Given the description of an element on the screen output the (x, y) to click on. 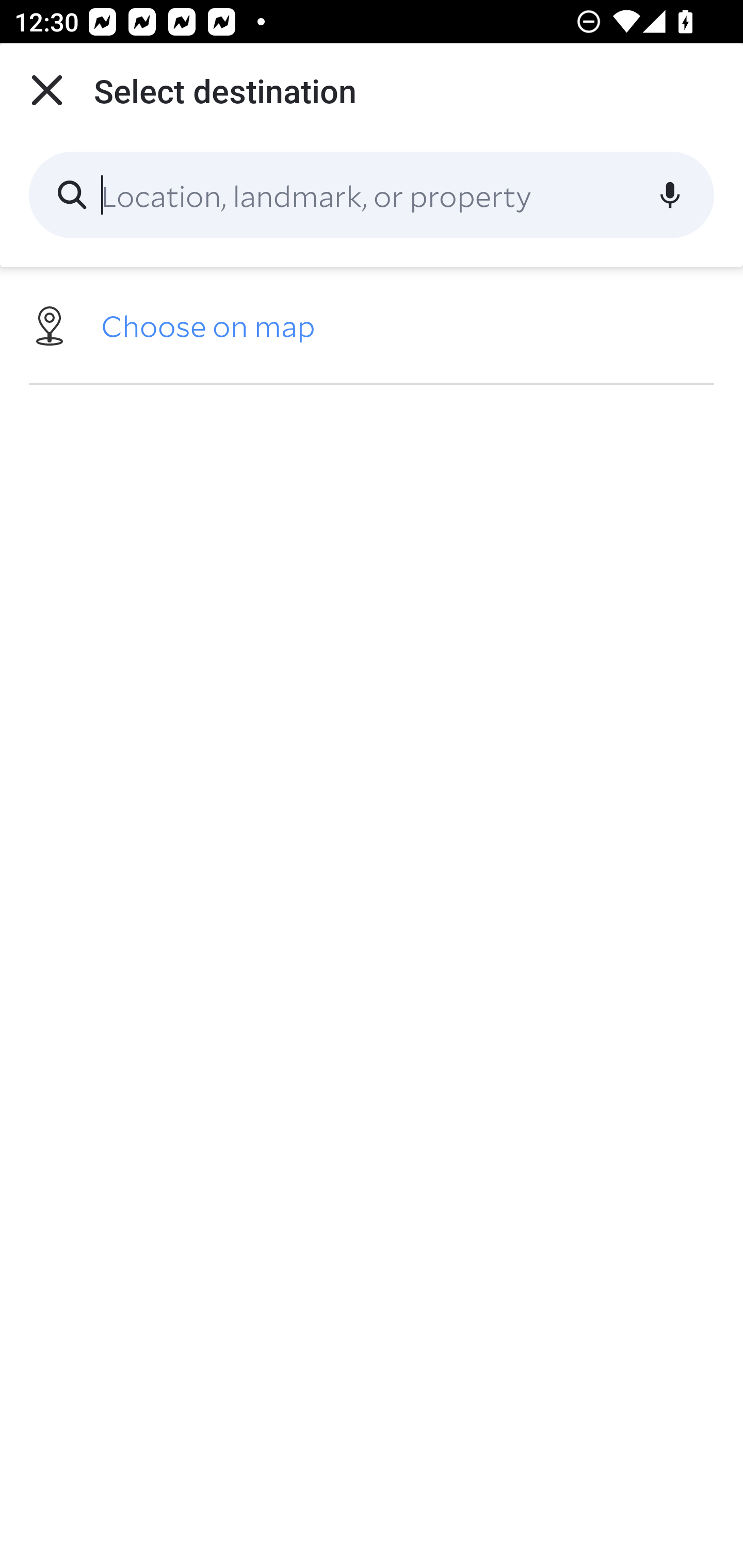
Location, landmark, or property (371, 195)
Choose on map (371, 324)
